Given the description of an element on the screen output the (x, y) to click on. 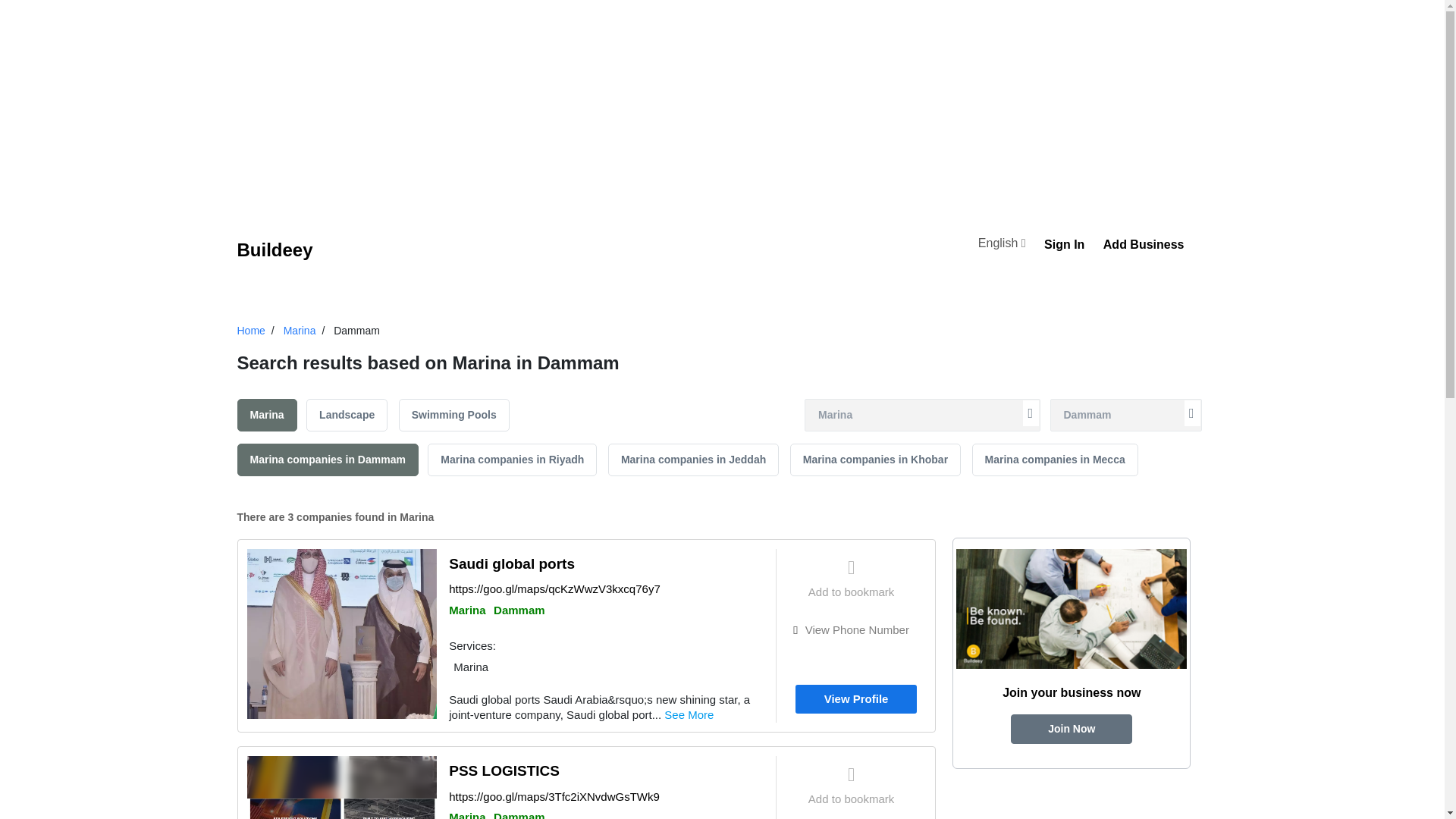
Marina (299, 330)
Marina companies in Mecca (1055, 459)
Marina companies in Khobar (875, 459)
Landscape (346, 414)
Marina companies in Jeddah (693, 459)
Buildeey (274, 249)
Marina companies in Riyadh (512, 459)
English (1003, 245)
Marina companies in Dammam (326, 459)
